Given the description of an element on the screen output the (x, y) to click on. 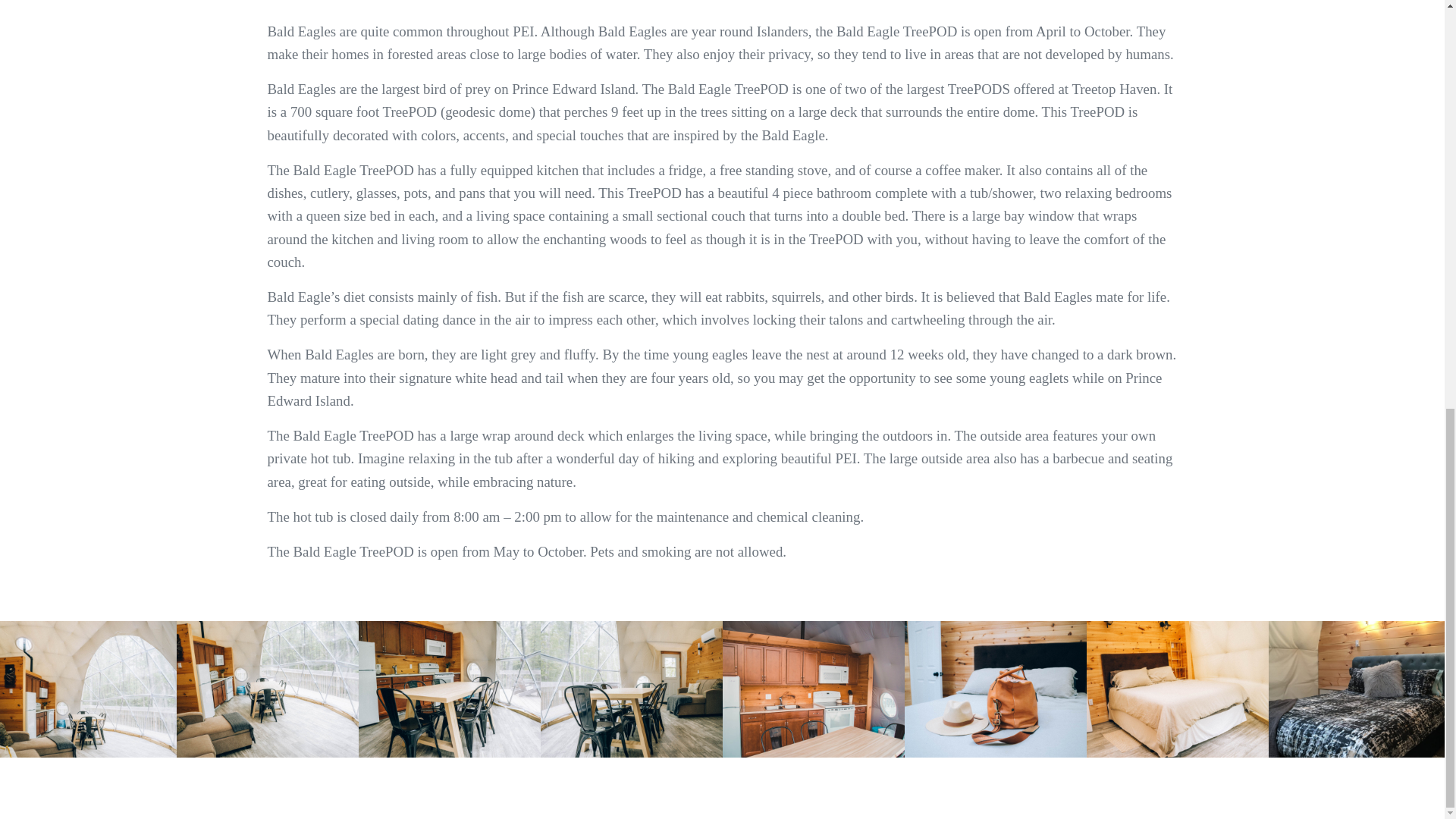
Bald Eagle-05 (449, 688)
Bald Eagle-08 (1177, 688)
Bald Eagle-07 (631, 688)
Bald Eagle-19 (813, 688)
Bald Eagle TreePod bedroom (1359, 688)
Bald Eagle-02 (88, 688)
Bald Eagle-09 (995, 688)
Bald Eagle-04 (267, 688)
